Given the description of an element on the screen output the (x, y) to click on. 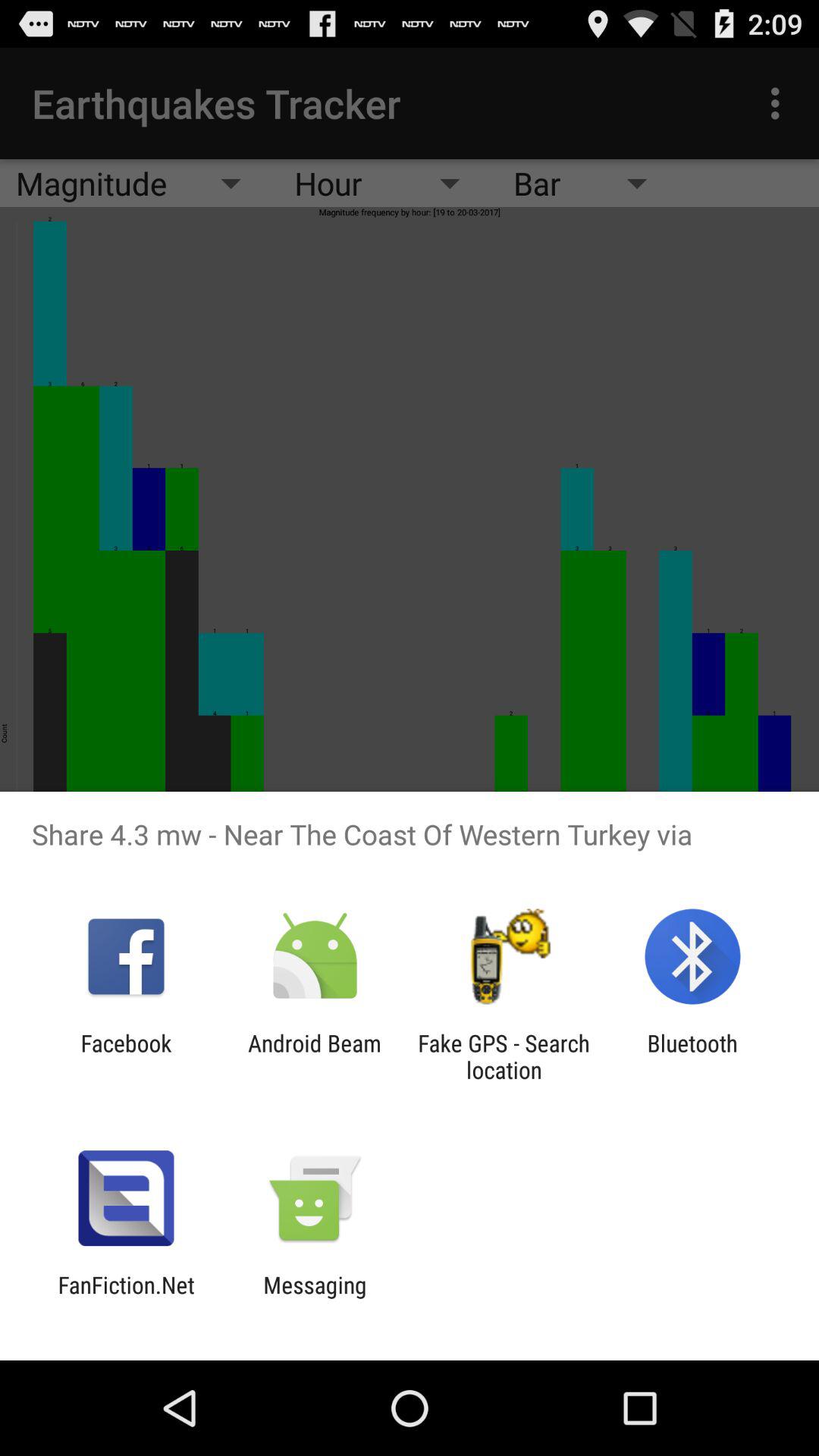
press icon to the left of the messaging app (126, 1298)
